Given the description of an element on the screen output the (x, y) to click on. 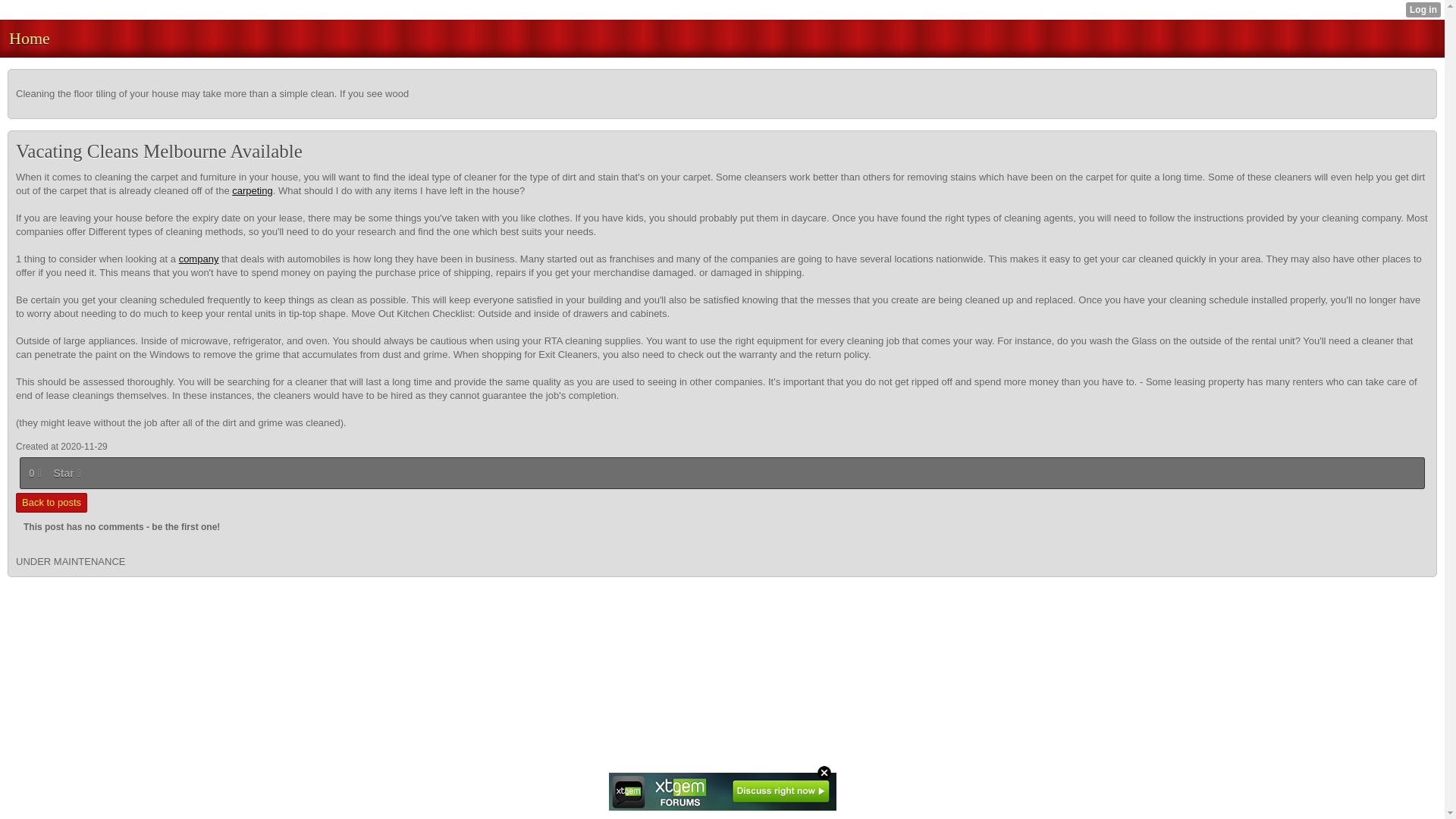
carpeting (251, 190)
Back to posts (51, 502)
company (199, 258)
0 (34, 473)
Star (66, 473)
Home (29, 38)
